Given the description of an element on the screen output the (x, y) to click on. 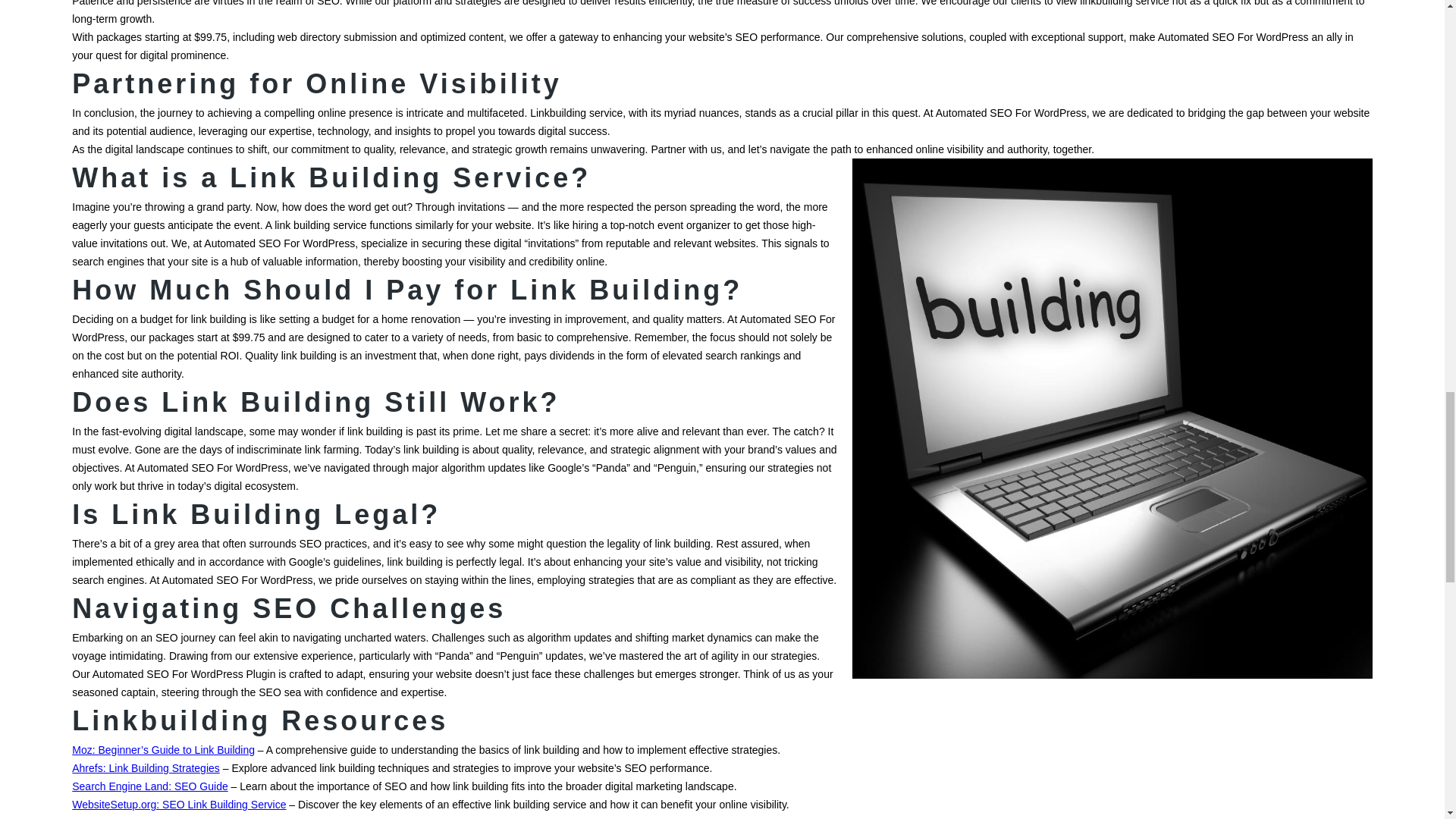
Search Engine Land: SEO Guide (149, 786)
WebsiteSetup.org: SEO Link Building Service (178, 804)
Ahrefs: Link Building Strategies (145, 767)
